Given the description of an element on the screen output the (x, y) to click on. 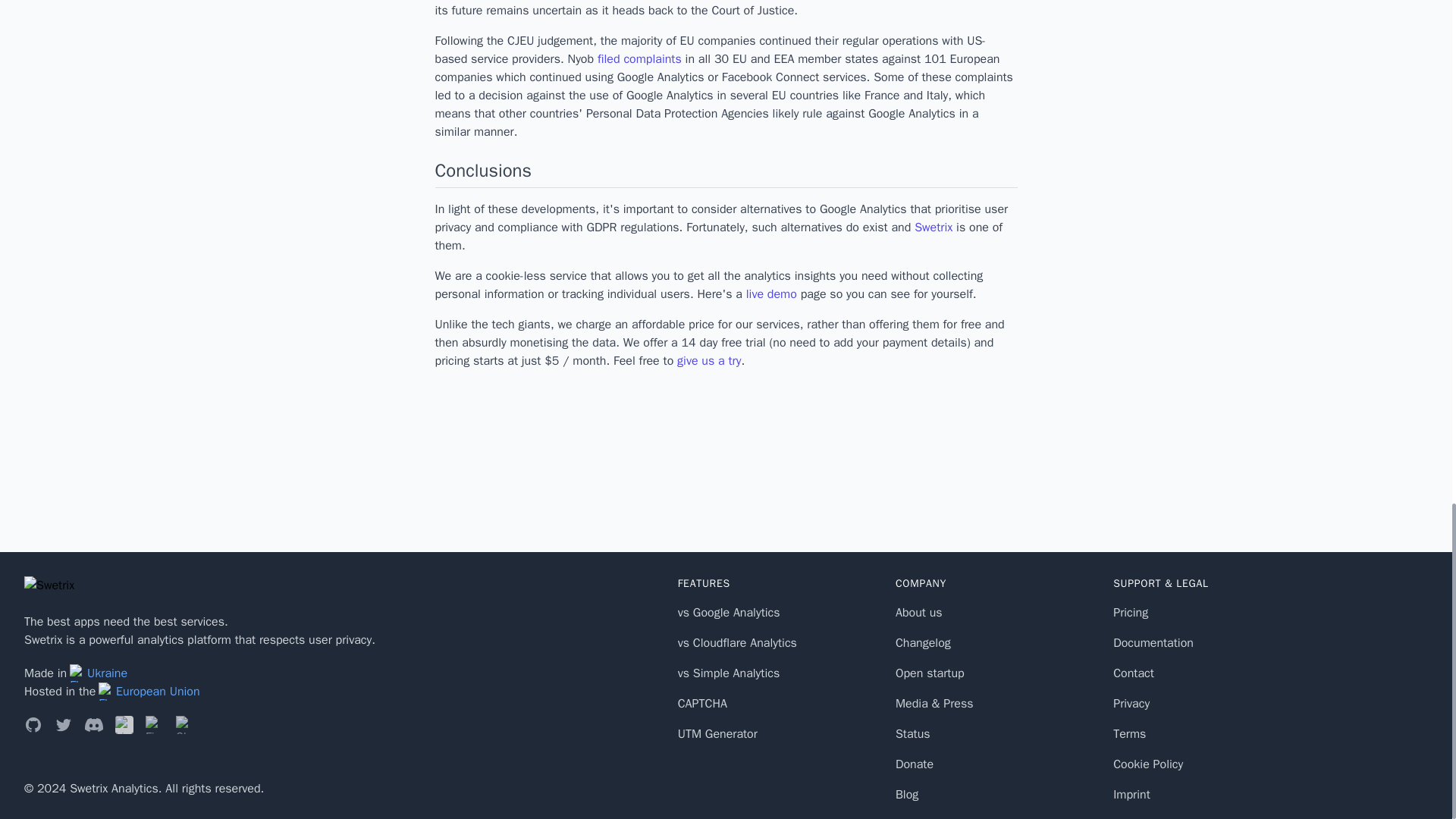
GitHub (33, 724)
LinkedIn (124, 724)
vs Simple Analytics (729, 672)
vs Cloudflare Analytics (737, 642)
Discord (93, 724)
Swetrix (933, 227)
vs Google Analytics (729, 612)
Twitter (63, 724)
live demo (770, 294)
CAPTCHA (702, 703)
